Given the description of an element on the screen output the (x, y) to click on. 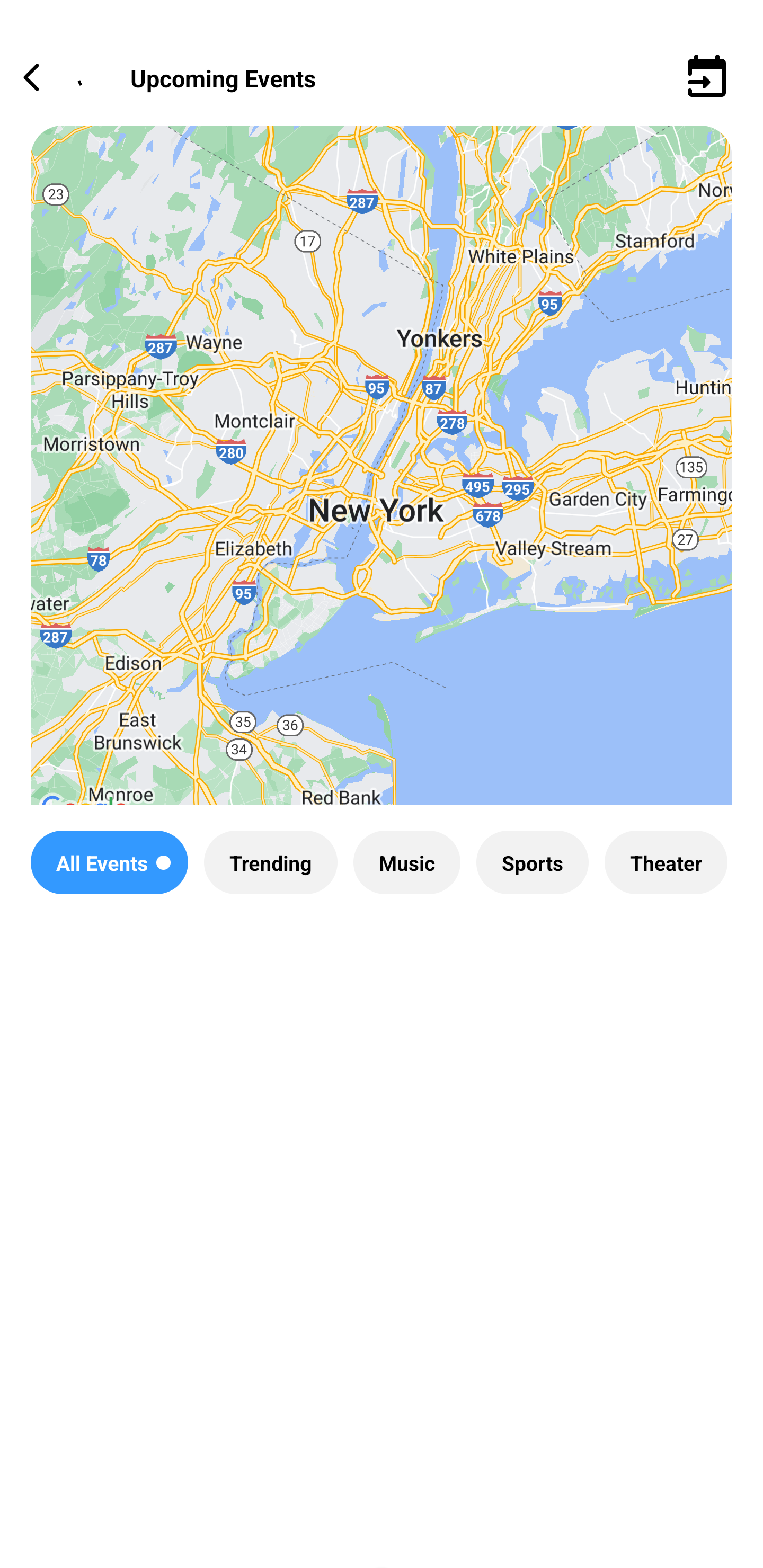
Google Map (381, 480)
All Events (109, 862)
Trending (270, 862)
Music (406, 862)
Sports (532, 862)
Theater (665, 862)
